Given the description of an element on the screen output the (x, y) to click on. 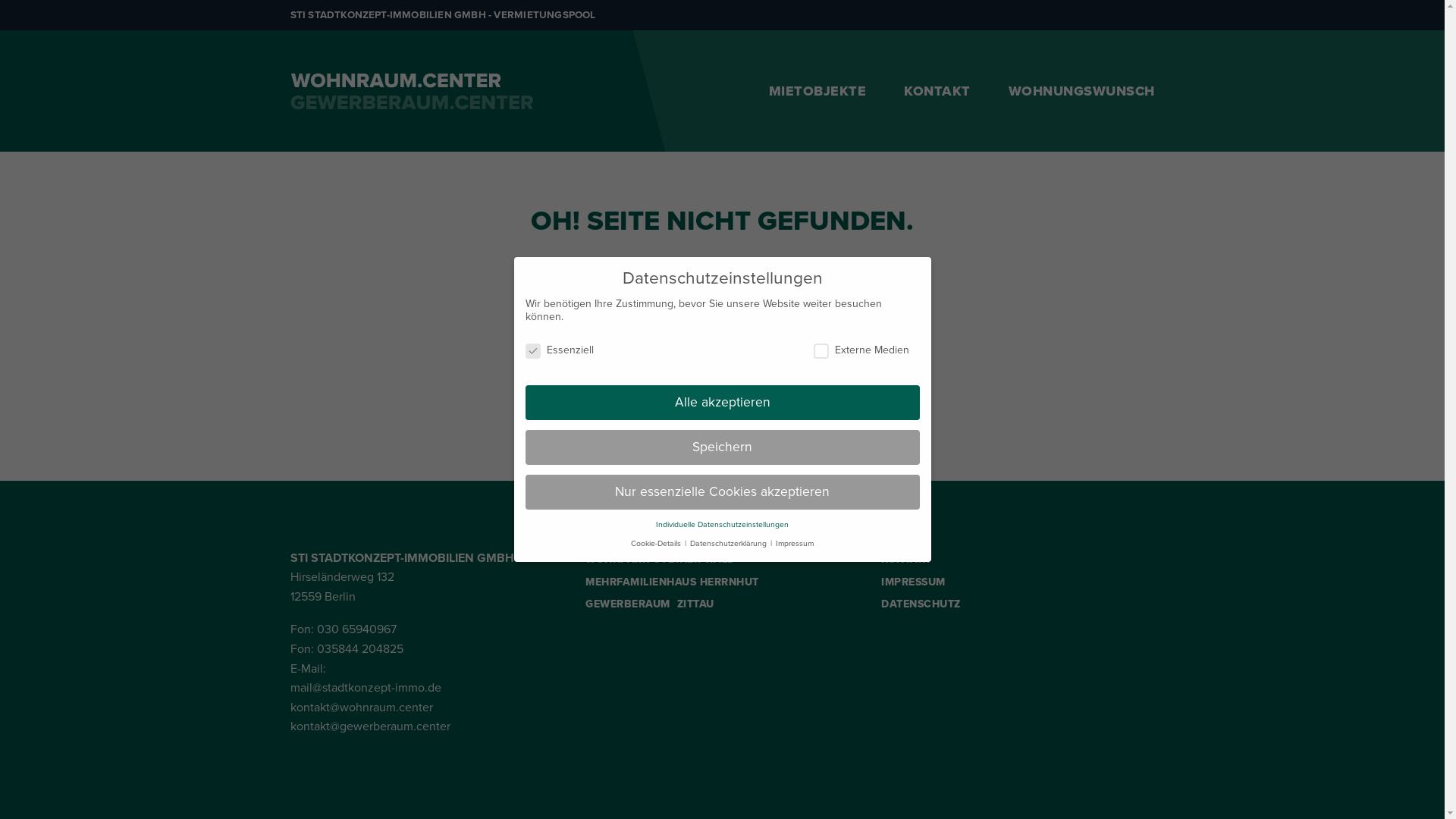
IMPRESSUM Element type: text (1017, 582)
Nur essenzielle Cookies akzeptieren Element type: text (721, 491)
KONTAKT Element type: text (1017, 560)
WOHNPARK OYBINER WALD Element type: text (721, 560)
MIETOBJEKTE Element type: text (817, 91)
DATENSCHUTZ Element type: text (1017, 604)
MEHRFAMILIENHAUS HERRNHUT Element type: text (721, 582)
WOHNUNGSWUNSCH Element type: text (1081, 91)
KONTAKT Element type: text (936, 91)
Speichern Element type: text (721, 446)
Cookie-Details Element type: text (656, 543)
ZUR STARTSEITE Element type: text (722, 298)
GEWERBERAUM ZITTAU Element type: text (721, 604)
Impressum Element type: text (794, 543)
Alle akzeptieren Element type: text (721, 402)
Individuelle Datenschutzeinstellungen Element type: text (721, 524)
